Given the description of an element on the screen output the (x, y) to click on. 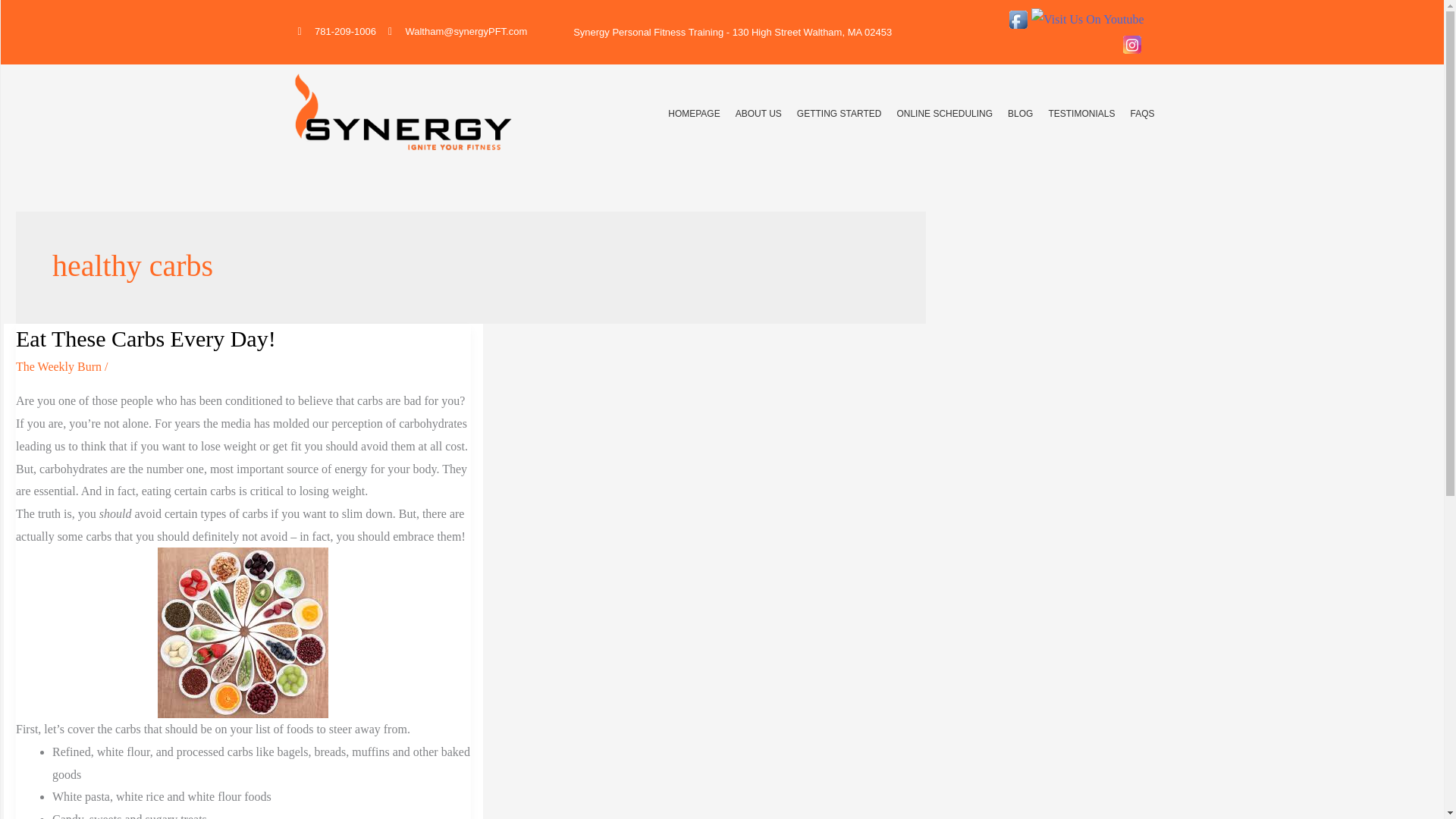
ABOUT US (758, 113)
ONLINE SCHEDULING (944, 113)
Visit Us On Facebook (1018, 18)
Visit Us On Instagram (1131, 42)
Visit Us On Youtube (1086, 18)
TESTIMONIALS (1081, 113)
GETTING STARTED (839, 113)
781-209-1006 (336, 31)
HOMEPAGE (693, 113)
